Given the description of an element on the screen output the (x, y) to click on. 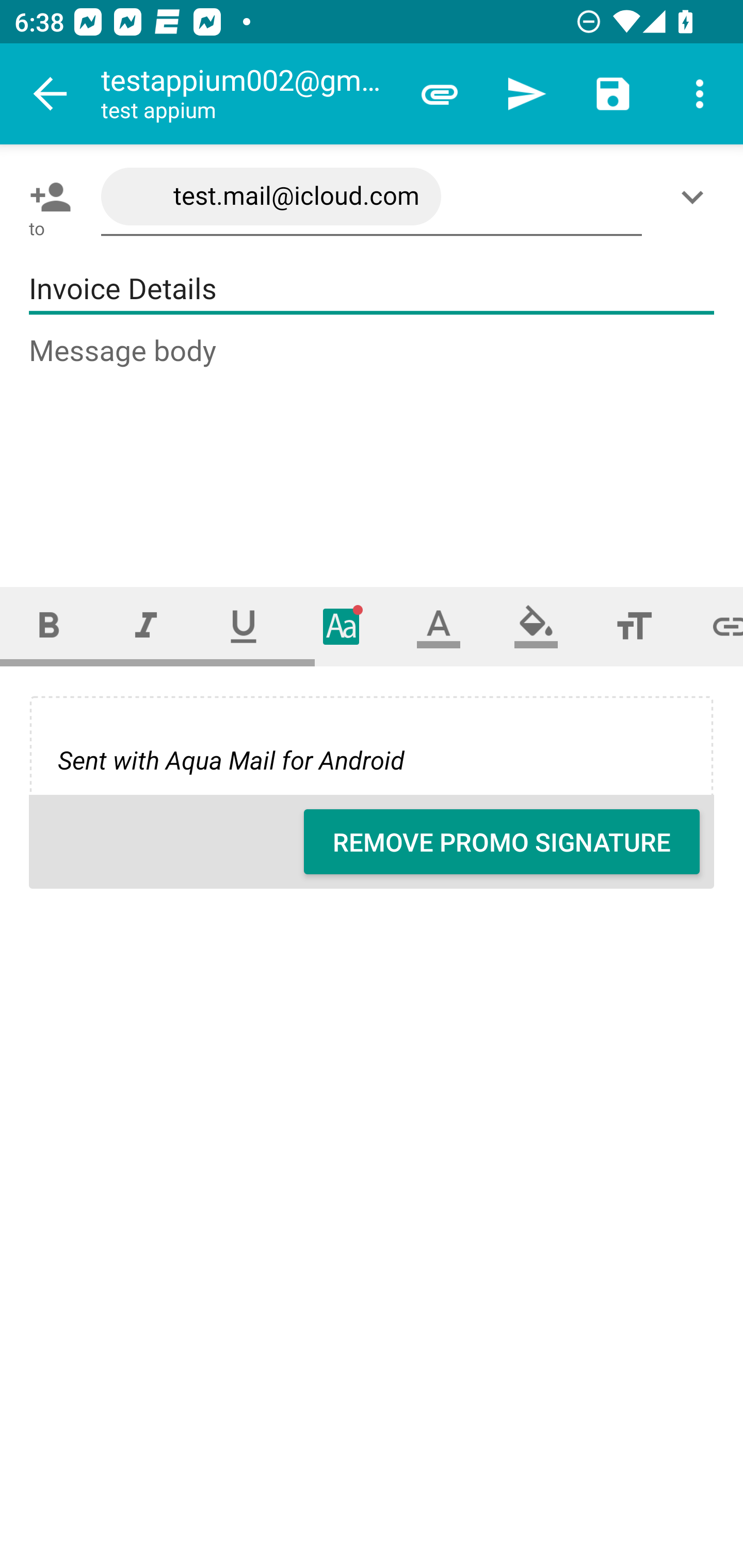
Navigate up (50, 93)
testappium002@gmail.com test appium (248, 93)
Attach (439, 93)
Send (525, 93)
Save (612, 93)
More options (699, 93)
test.mail@icloud.com,  (371, 197)
Pick contact: To (46, 196)
Show/Add CC/BCC (696, 196)
Invoice Details (371, 288)
Message body (372, 442)
Bold (48, 626)
Italic (145, 626)
Underline (243, 626)
Typeface (font) (341, 626)
Text color (438, 626)
Fill color (536, 626)
Font size (633, 626)
REMOVE PROMO SIGNATURE (501, 841)
